Given the description of an element on the screen output the (x, y) to click on. 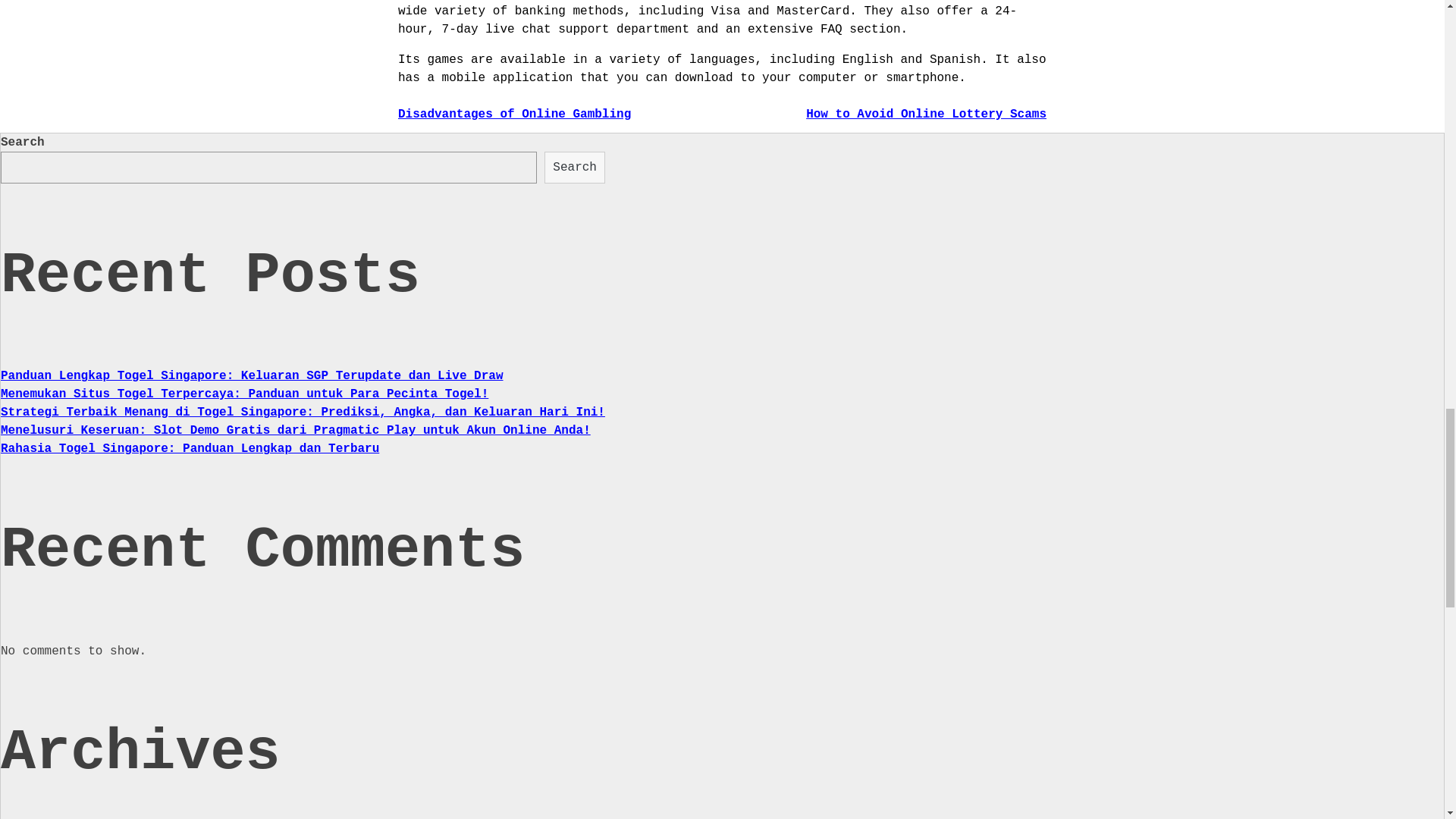
Rahasia Togel Singapore: Panduan Lengkap dan Terbaru (189, 448)
Disadvantages of Online Gambling (513, 114)
Search (574, 167)
How to Avoid Online Lottery Scams (926, 114)
